Given the description of an element on the screen output the (x, y) to click on. 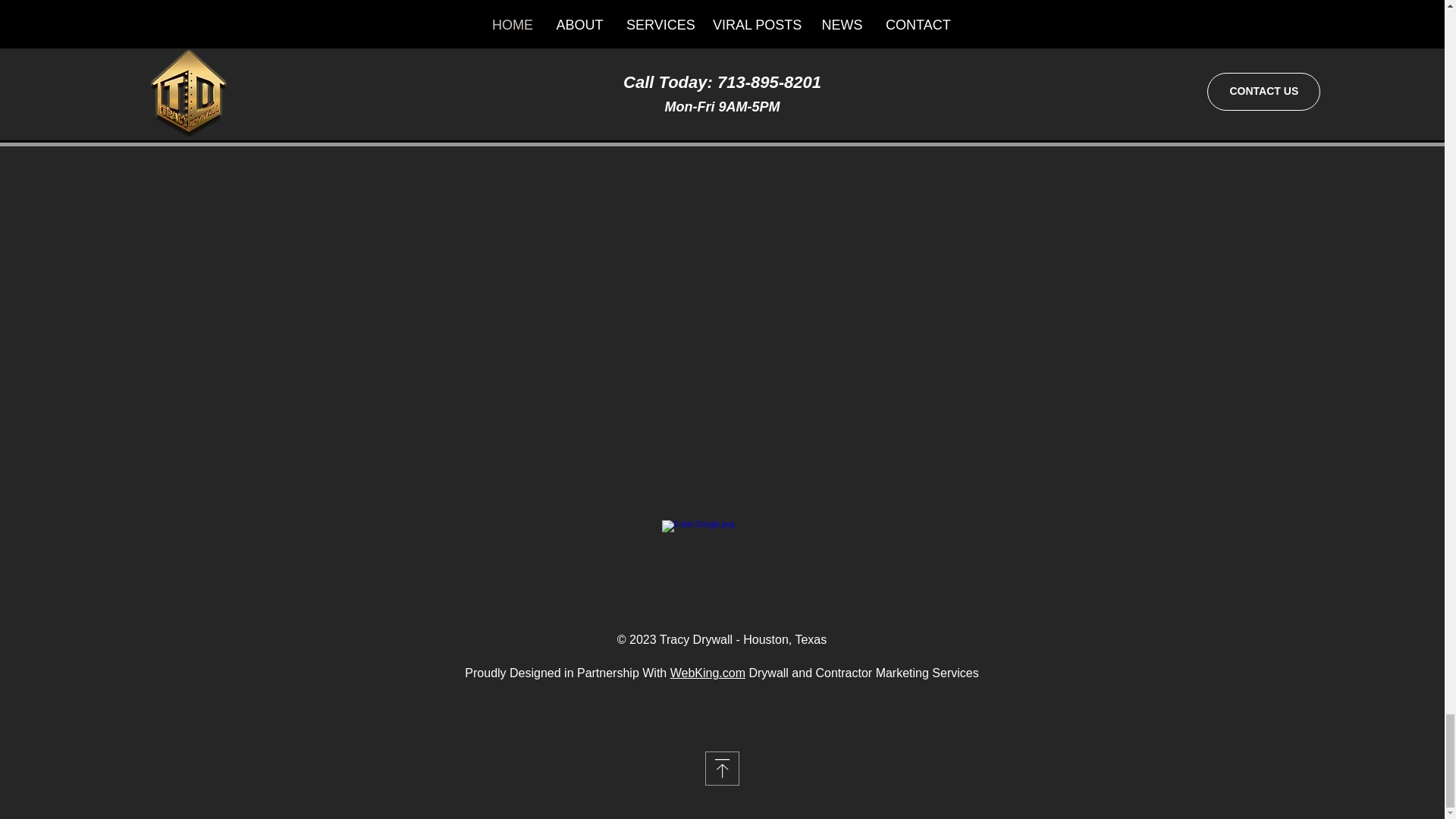
SUBMIT (721, 35)
713-895-8201 (174, 11)
Call Us at: (166, 2)
